Given the description of an element on the screen output the (x, y) to click on. 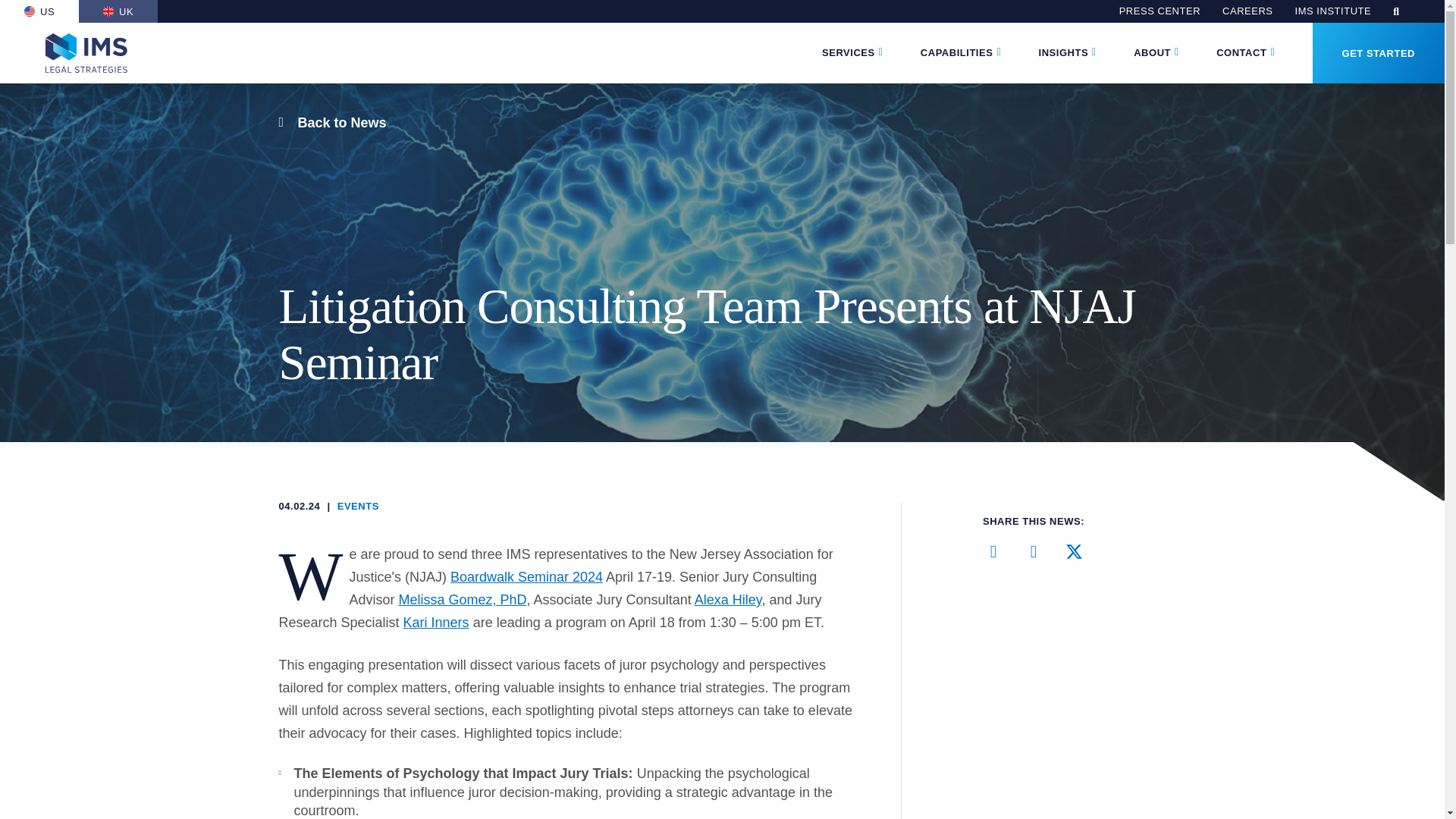
Twitter (1073, 551)
US (39, 11)
LinkedIn (993, 551)
PRESS CENTER (1159, 10)
CAREERS (1247, 10)
IMS INSTITUTE (1333, 10)
Facebook (1032, 551)
CAPABILITIES (956, 52)
